Given the description of an element on the screen output the (x, y) to click on. 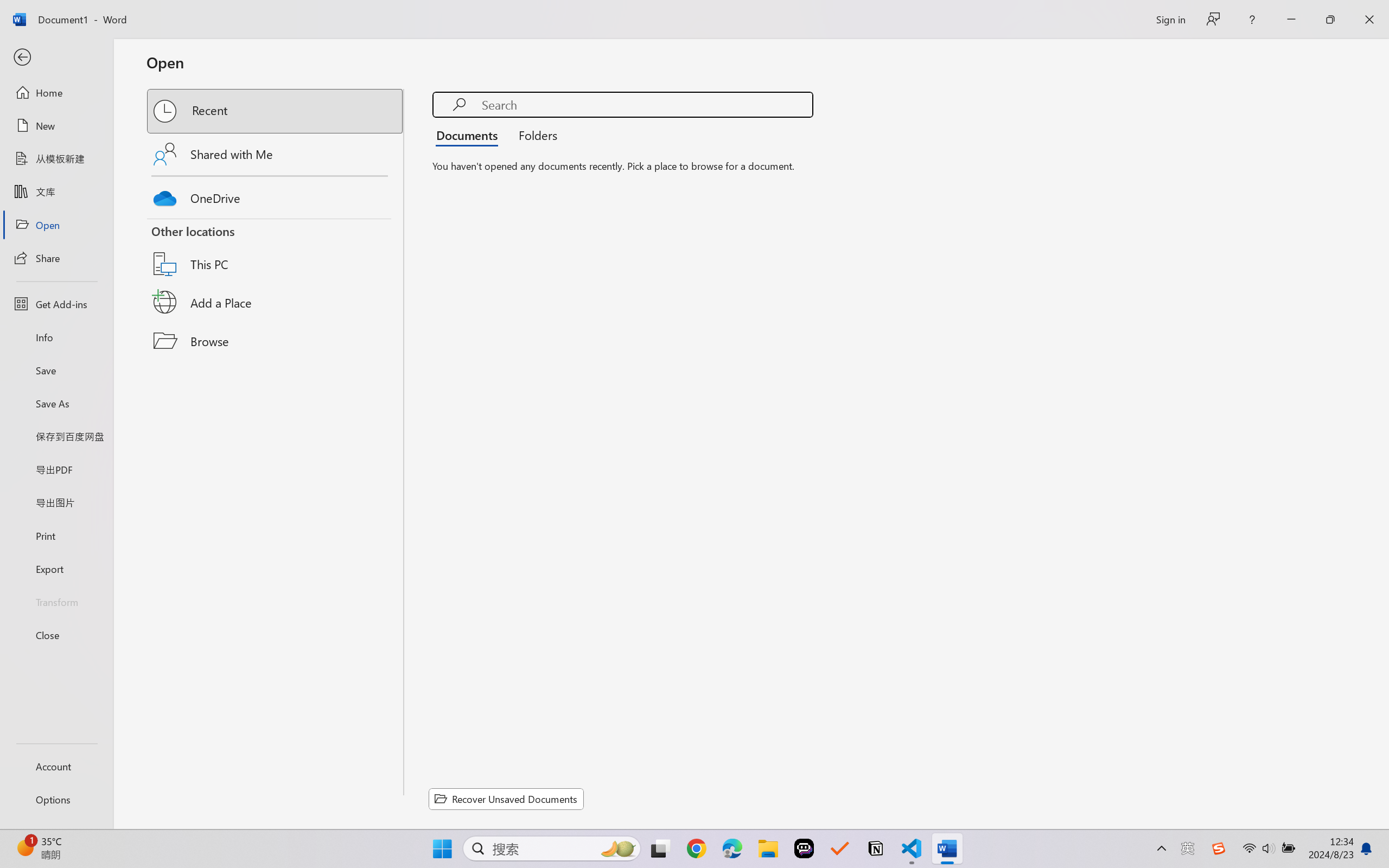
Transform (56, 601)
Save As (56, 403)
This PC (275, 249)
Info (56, 337)
Folders (534, 134)
Print (56, 535)
